Given the description of an element on the screen output the (x, y) to click on. 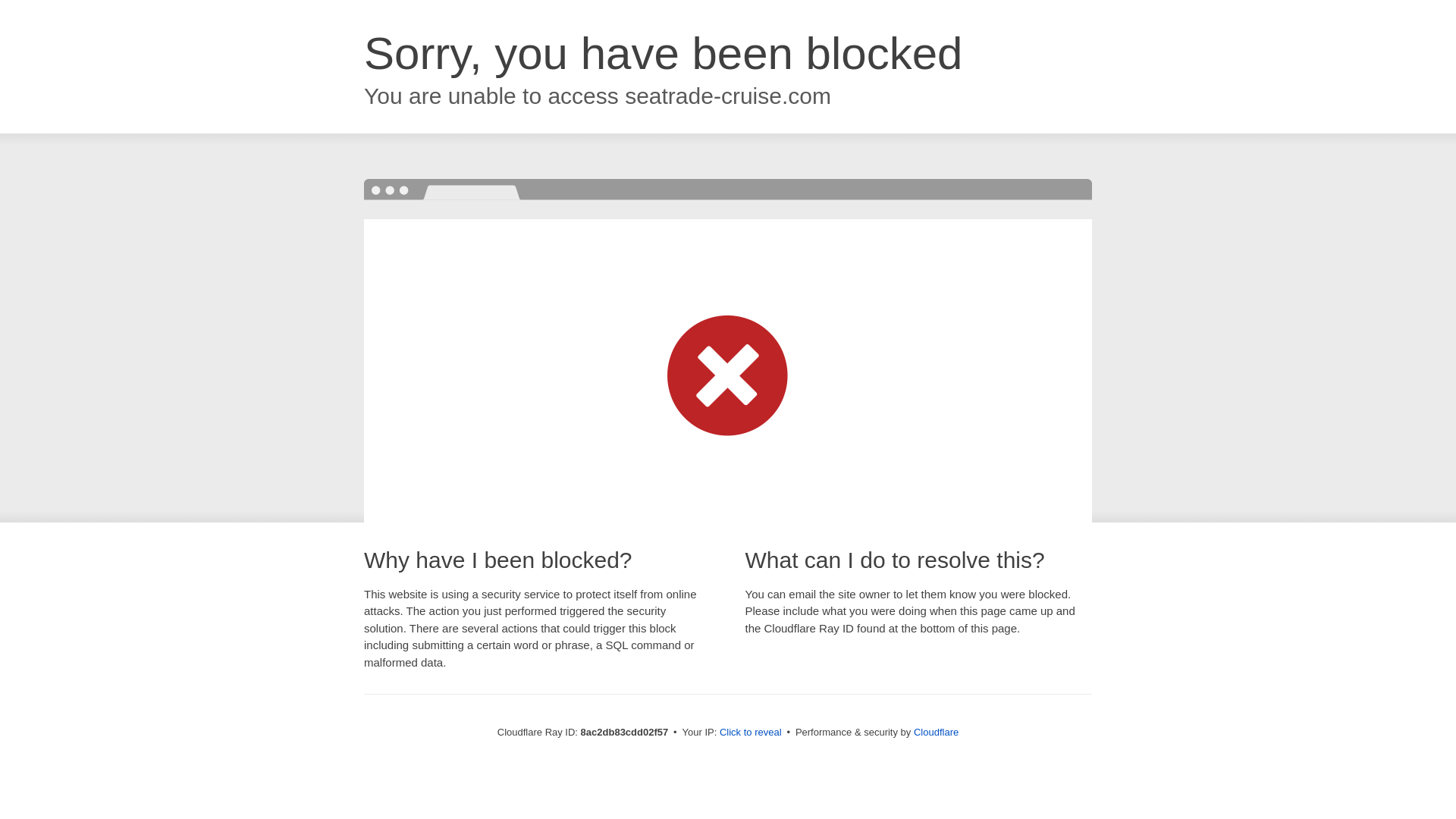
Cloudflare (936, 731)
Click to reveal (750, 732)
